Given the description of an element on the screen output the (x, y) to click on. 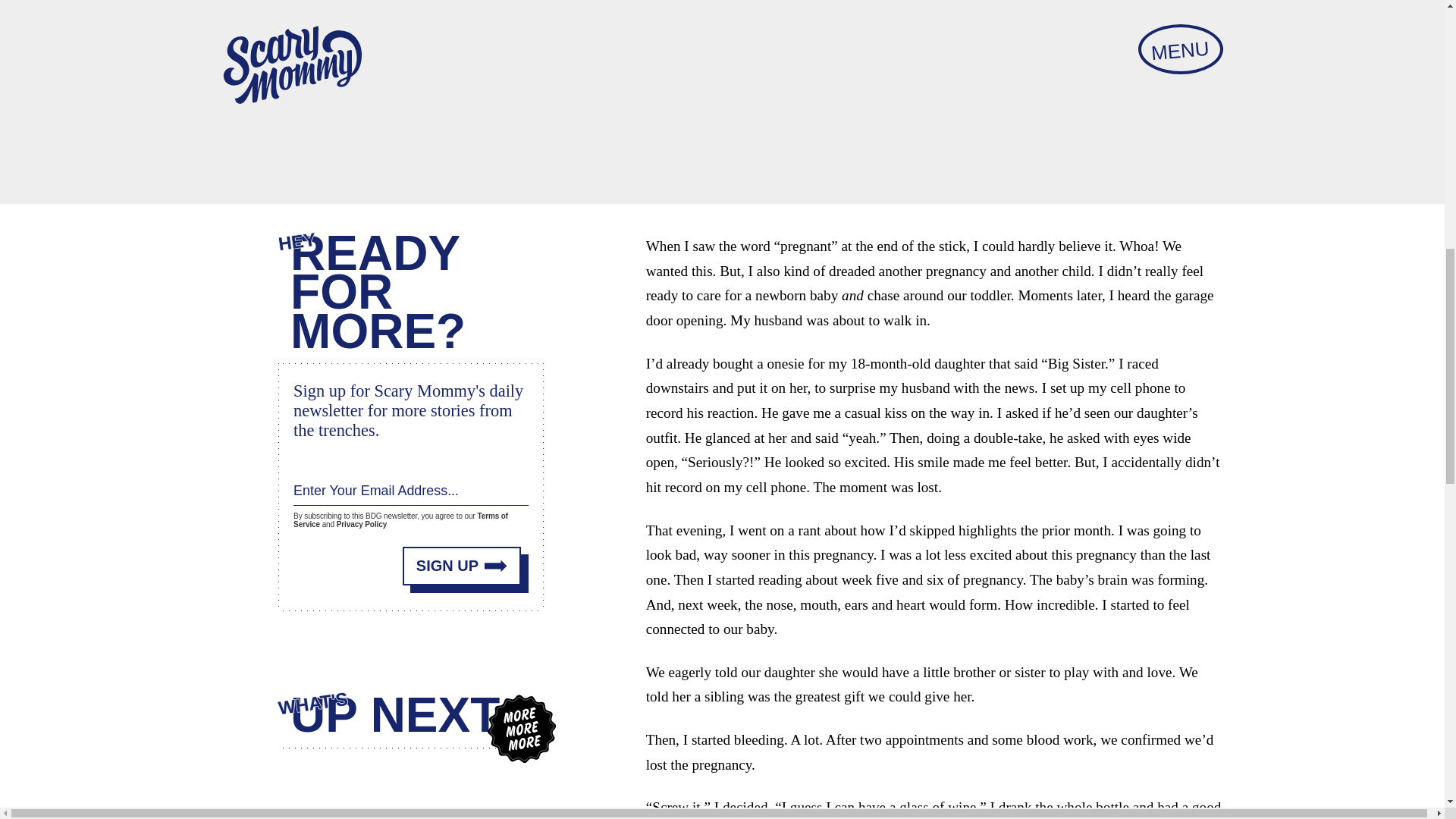
SIGN UP (462, 559)
Terms of Service (401, 515)
Privacy Policy (361, 520)
